Given the description of an element on the screen output the (x, y) to click on. 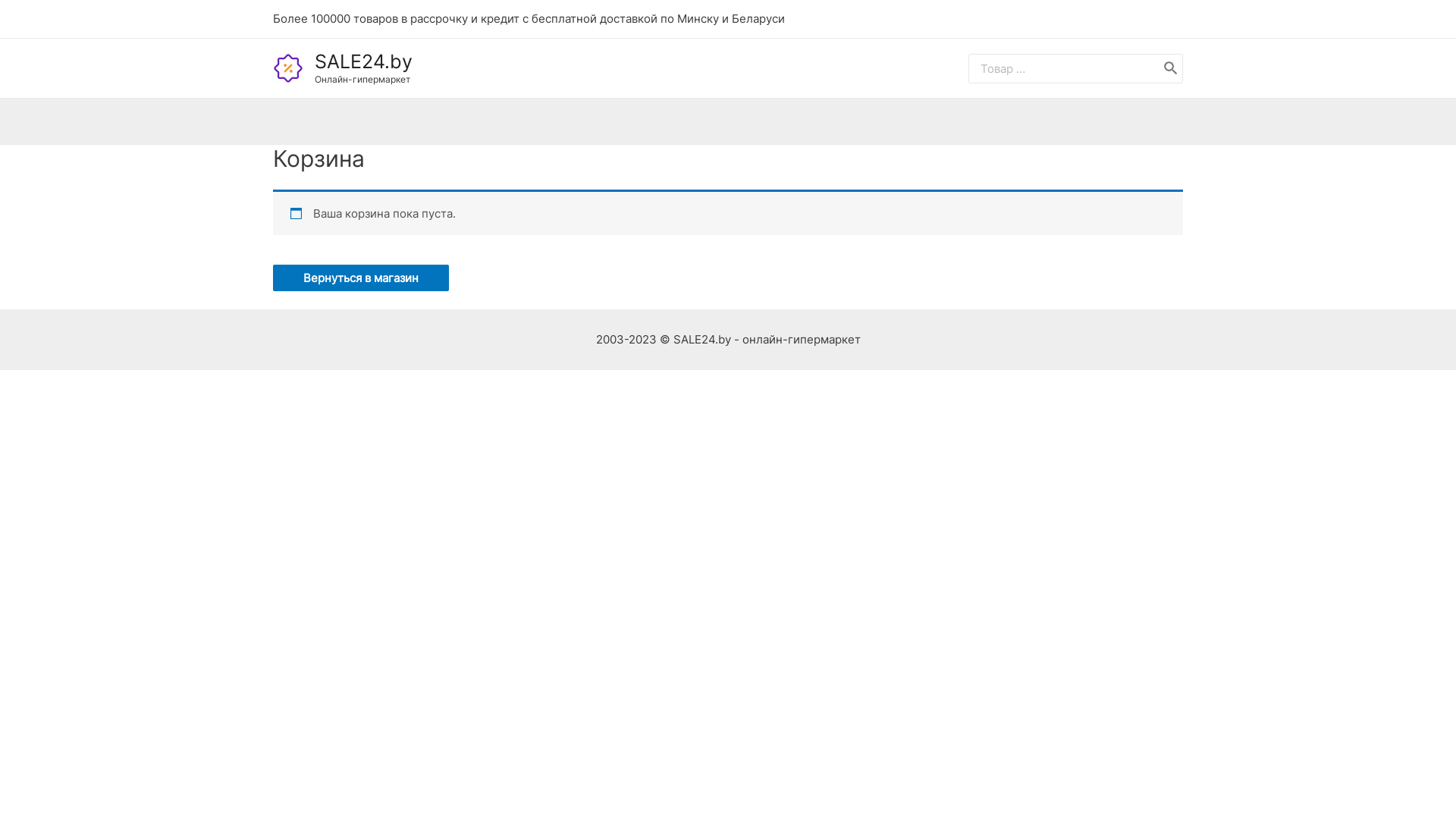
SALE24.by Element type: text (363, 61)
